Given the description of an element on the screen output the (x, y) to click on. 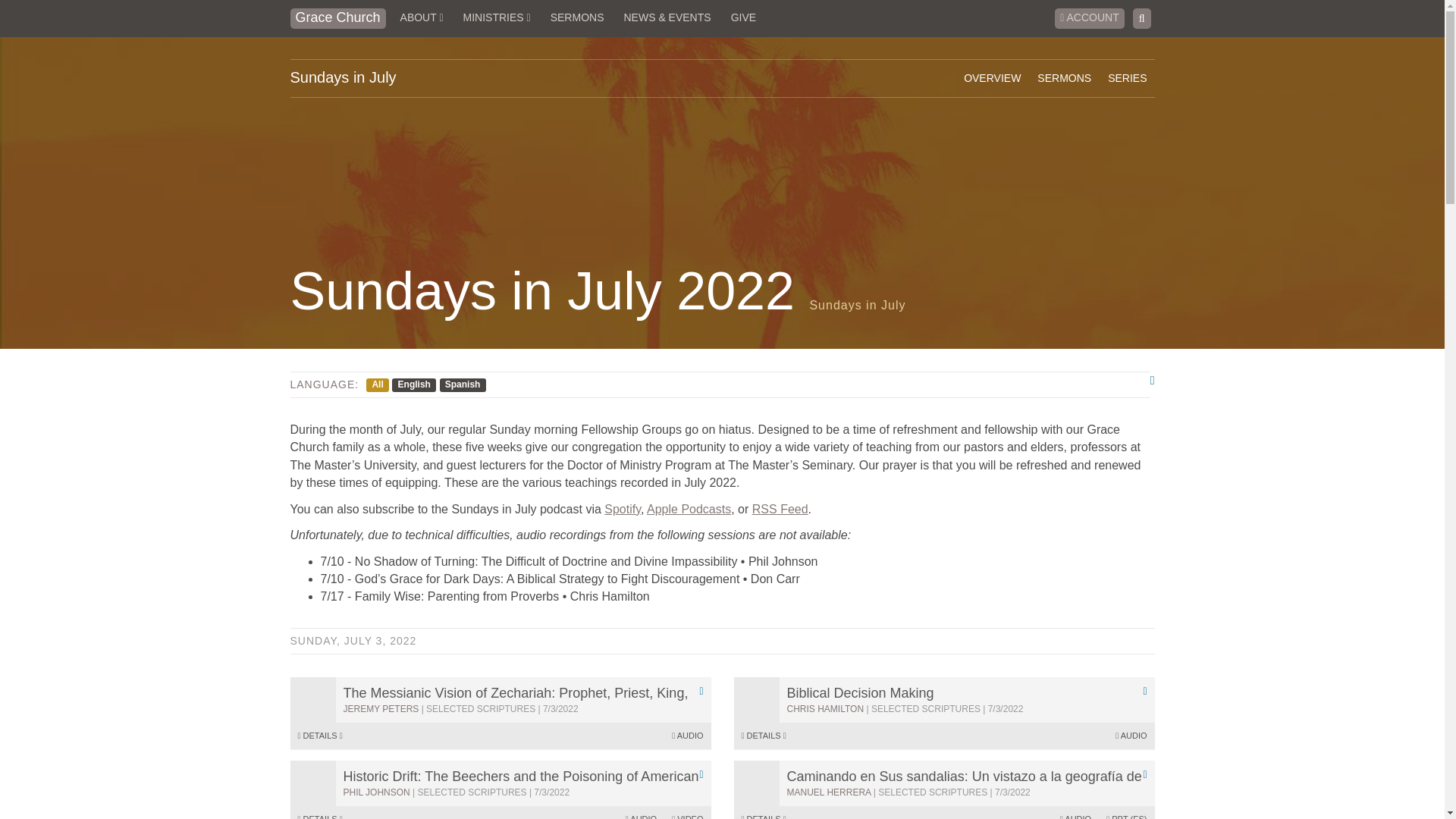
Grace Church (337, 18)
Search (1141, 18)
MINISTRIES (496, 18)
ABOUT (421, 18)
